Given the description of an element on the screen output the (x, y) to click on. 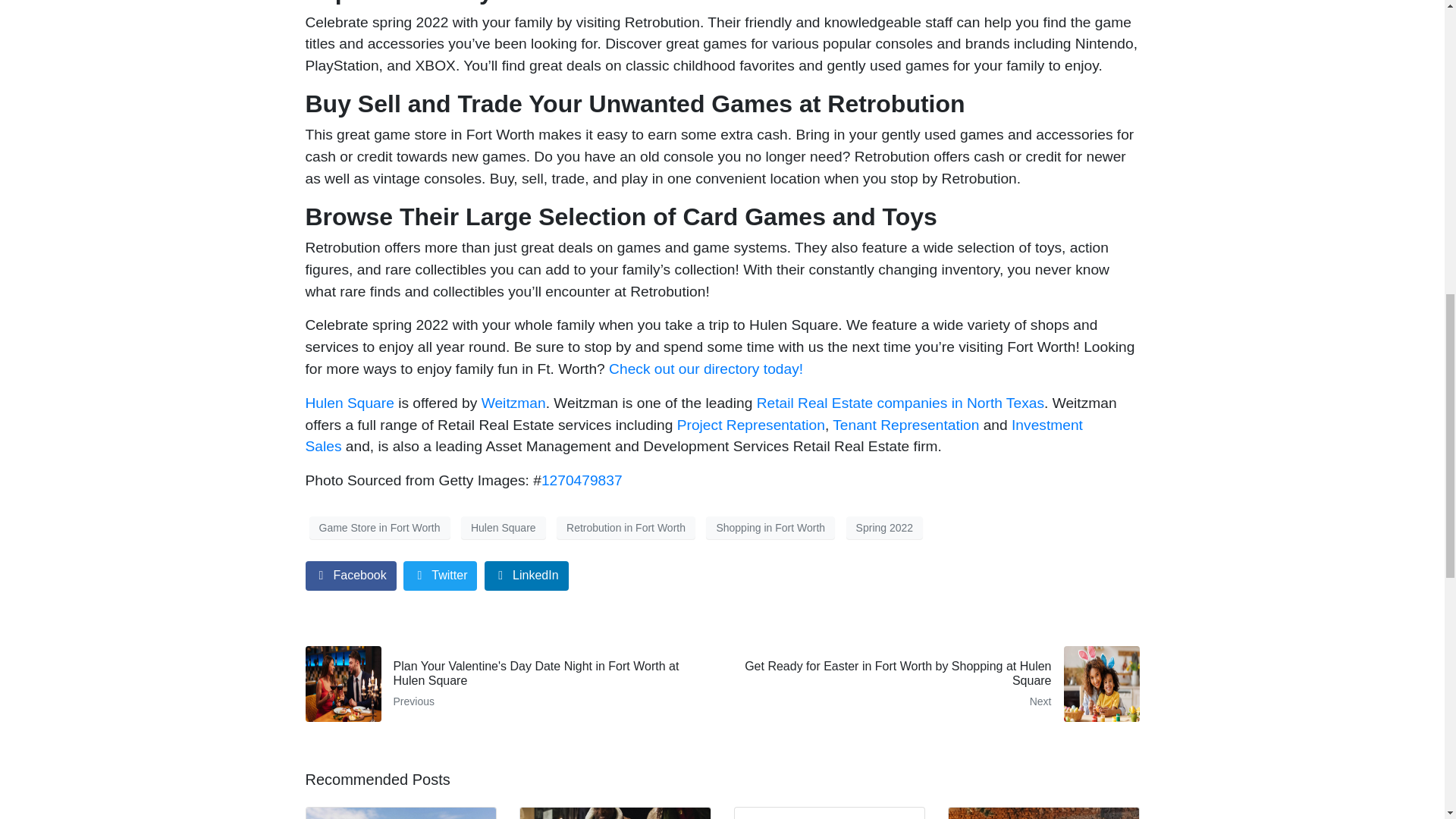
Twitter (440, 575)
Hulen Square (503, 527)
LinkedIn (526, 575)
Weitzman (513, 402)
Investment Sales (692, 435)
Project Representation (751, 424)
Shopping in Fort Worth (770, 527)
Facebook (350, 575)
Tenant Representation (905, 424)
Retail Real Estate companies in North Texas (900, 402)
